Given the description of an element on the screen output the (x, y) to click on. 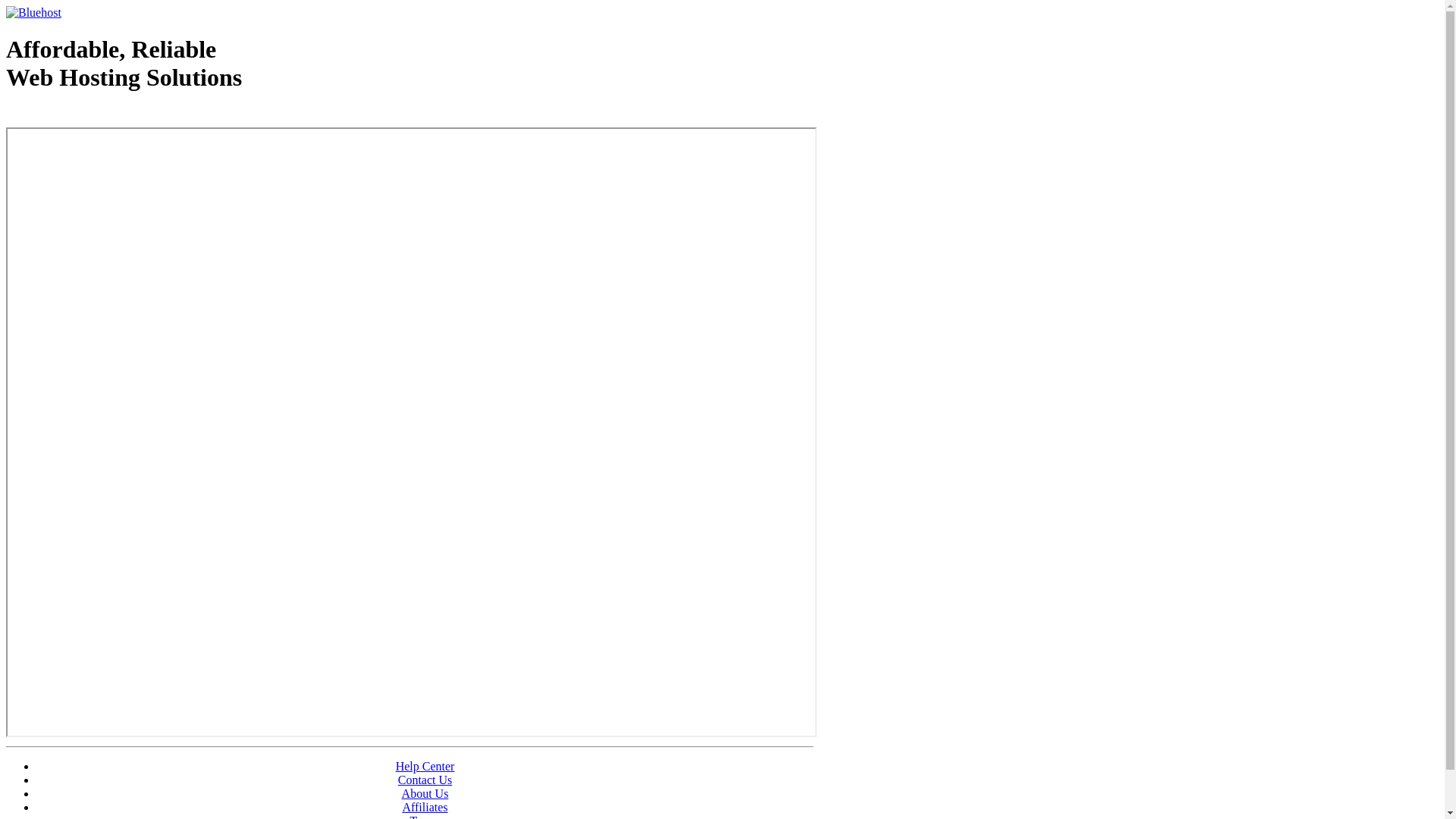
Affiliates Element type: text (424, 806)
About Us Element type: text (424, 793)
Contact Us Element type: text (425, 779)
Help Center Element type: text (425, 765)
Web Hosting - courtesy of www.bluehost.com Element type: text (94, 115)
